Given the description of an element on the screen output the (x, y) to click on. 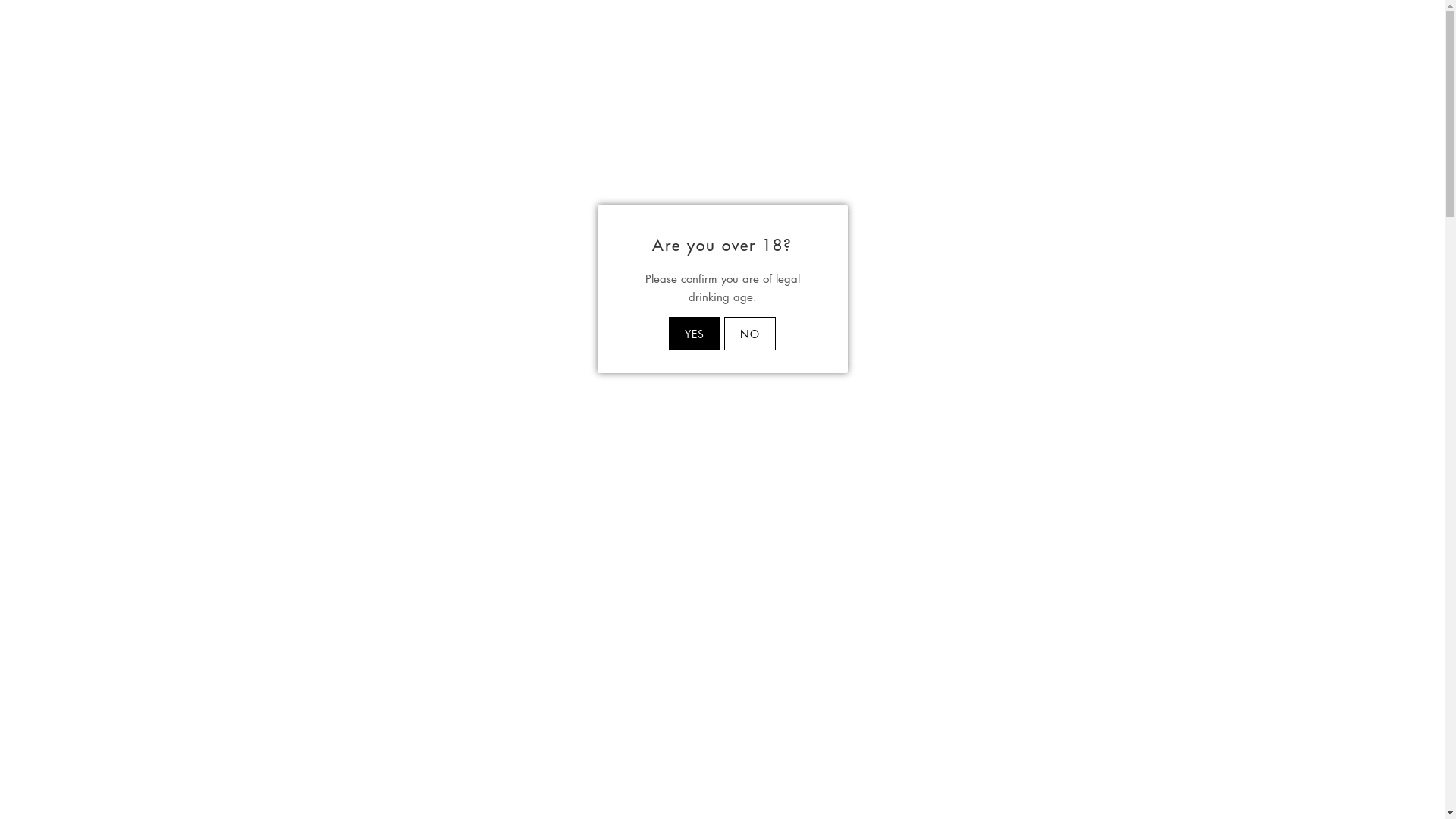
Montalto Vineyard and Olive Grove Element type: hover (721, 62)
LOGIN Element type: text (1356, 15)
Christmas Gifts Element type: text (161, 765)
Sparkling Element type: text (146, 340)
BOOK PIAZZA Element type: text (170, 15)
Christmas Wine Packs Element type: text (179, 793)
Pantry Element type: text (138, 709)
Olive Oil Element type: text (145, 737)
Gin Element type: text (132, 681)
Grenache Element type: text (147, 537)
Pinot Gris Element type: text (147, 396)
0 Element type: text (1417, 15)
WINES Element type: text (178, 168)
Pinot Noir Element type: text (148, 284)
WINE CLUB Element type: text (854, 109)
HOME Element type: text (134, 168)
Vouchers Element type: text (145, 625)
Riesling Element type: text (142, 425)
Syrah Element type: text (137, 312)
NO Element type: text (749, 333)
SHOP Element type: text (109, 15)
Tempranillo Element type: text (152, 509)
YES Element type: text (694, 333)
Sauvignon Blanc Element type: text (164, 453)
(03) 5989 8412 Element type: text (44, 15)
BOOK RESTAURANT Element type: text (263, 15)
Chardonnay Element type: text (154, 256)
Savagnin Element type: text (146, 481)
Beer & Cider Element type: text (156, 653)
